Given the description of an element on the screen output the (x, y) to click on. 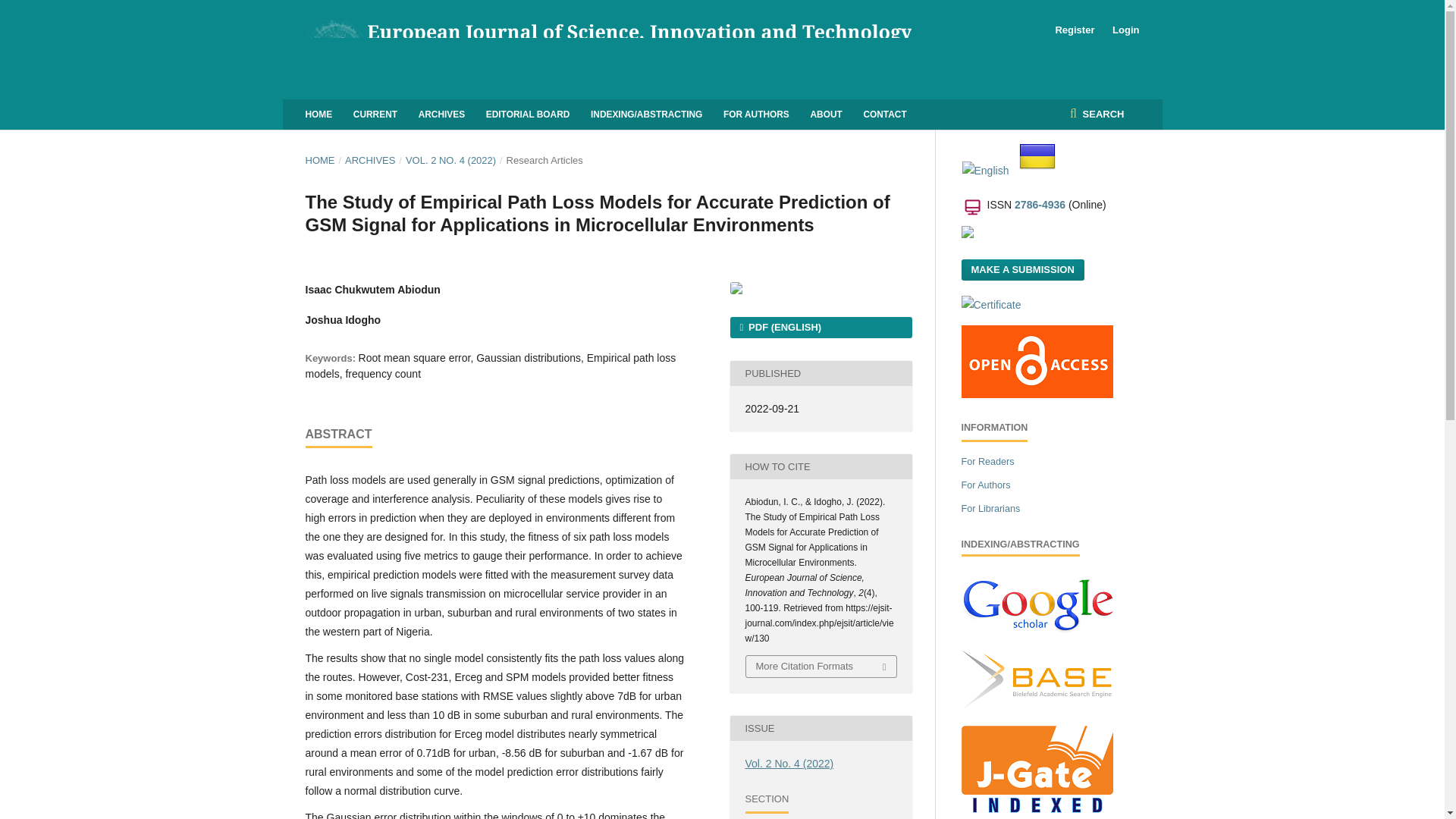
HOME (319, 160)
Login (1121, 29)
ISSN (1039, 204)
BASE (1036, 679)
HOME (317, 114)
FOR AUTHORS (756, 114)
More Citation Formats (820, 666)
Open Access (1036, 361)
ABOUT (825, 114)
ARCHIVES (369, 160)
